Given the description of an element on the screen output the (x, y) to click on. 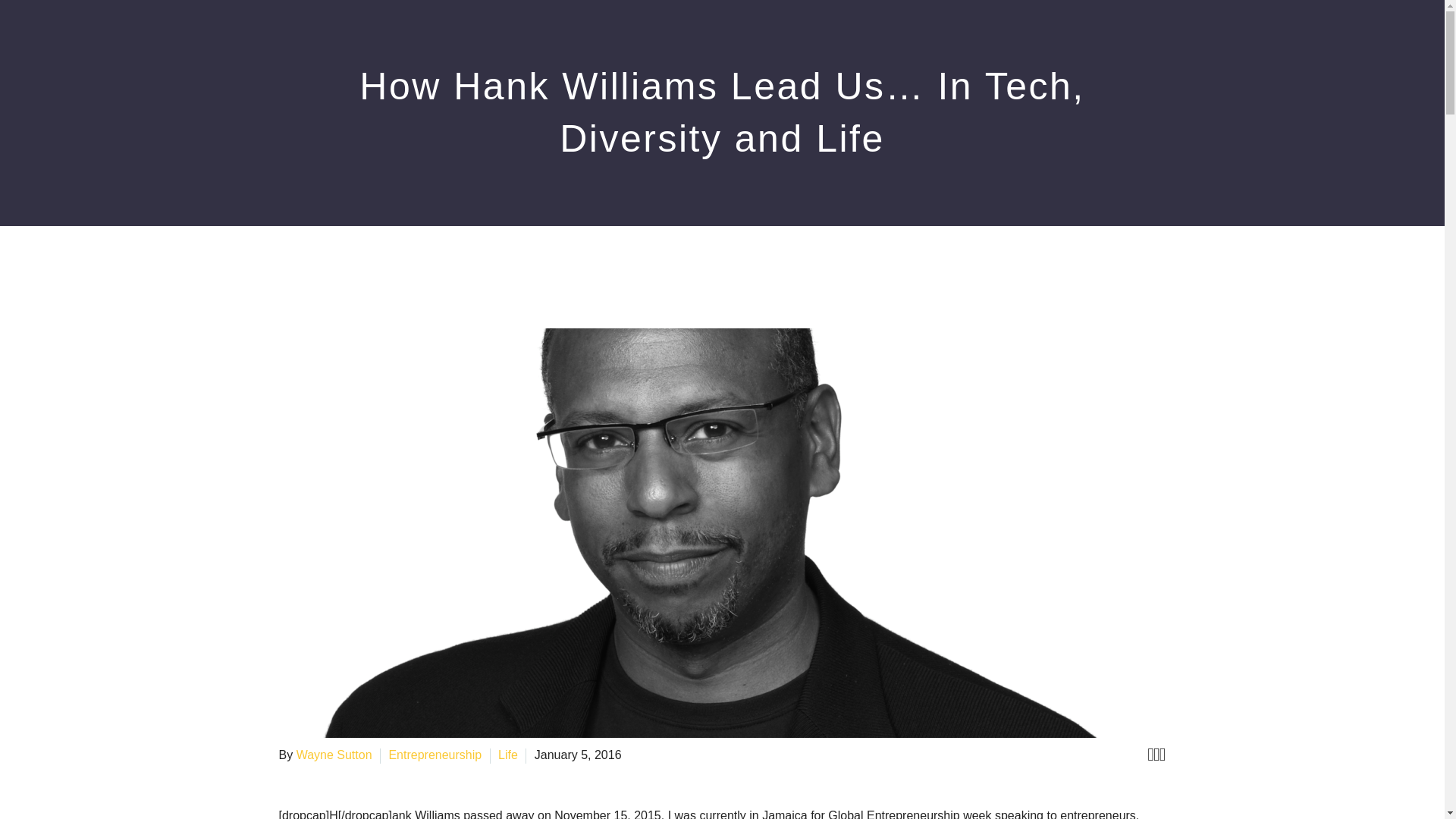
Entrepreneurship (434, 754)
View all posts in Life (507, 754)
View all posts in Entrepreneurship (434, 754)
Life (507, 754)
Wayne Sutton (334, 754)
